Given the description of an element on the screen output the (x, y) to click on. 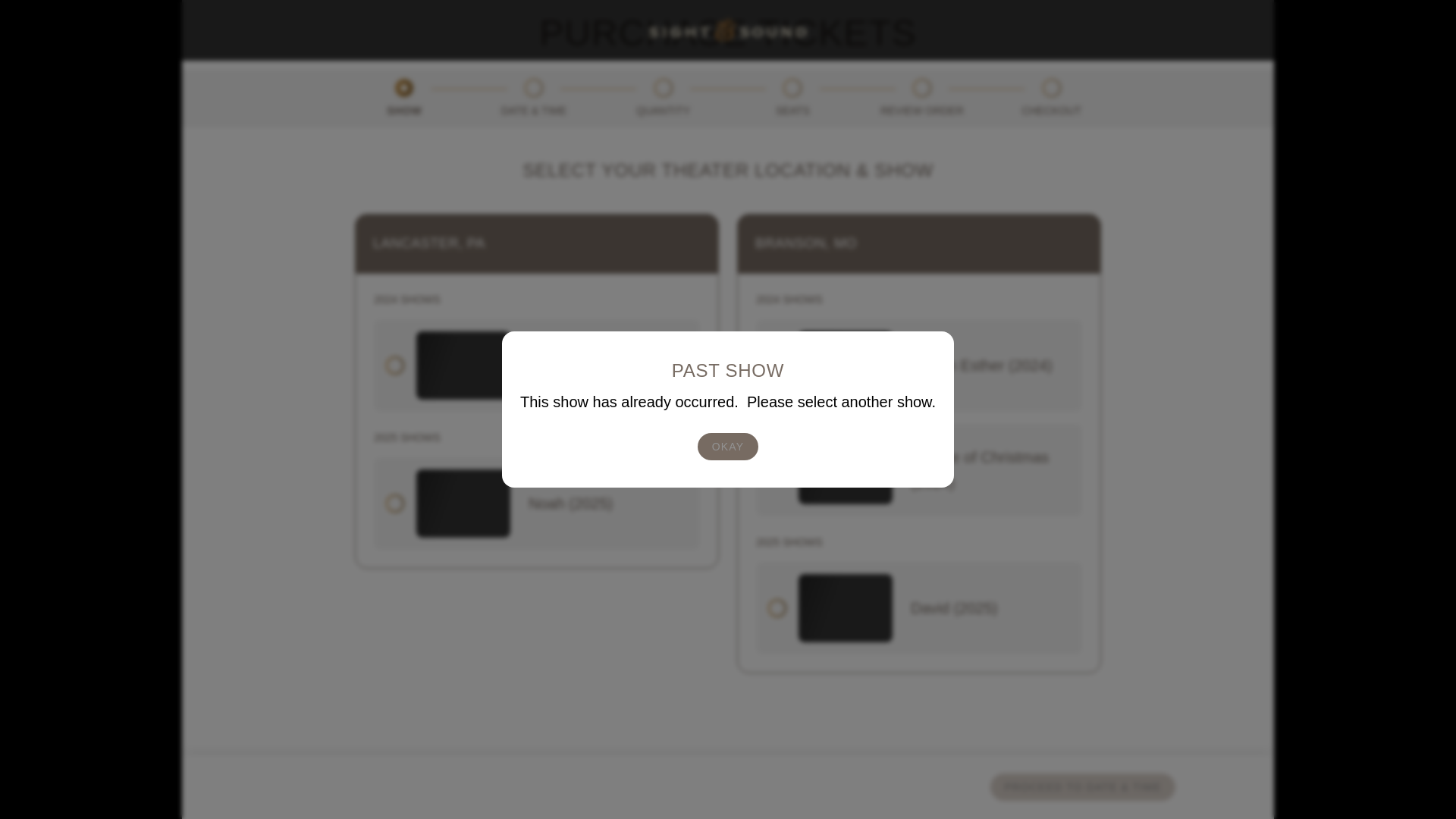
OKAY (727, 376)
